Given the description of an element on the screen output the (x, y) to click on. 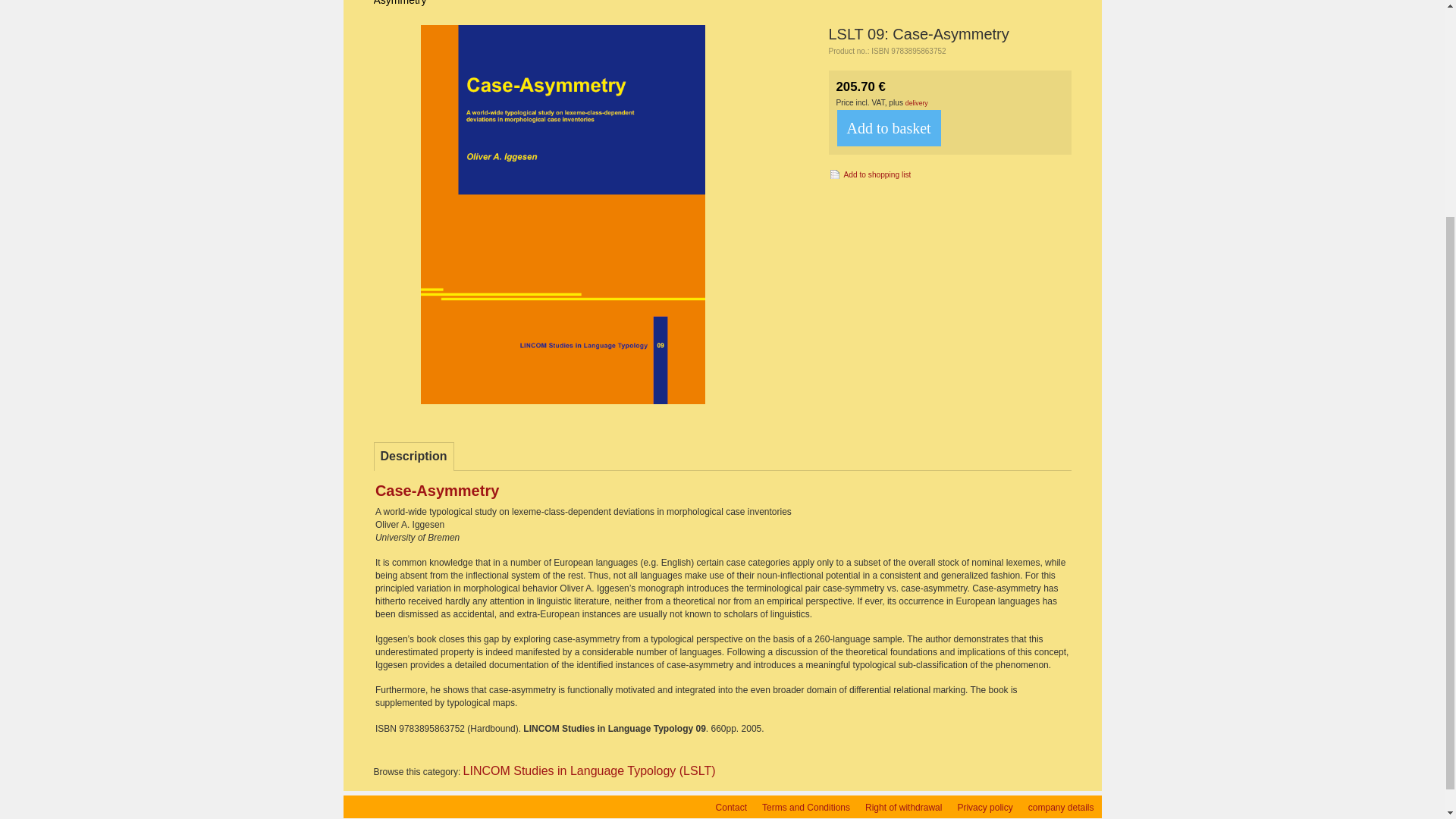
Add to shopping list (869, 173)
